Given the description of an element on the screen output the (x, y) to click on. 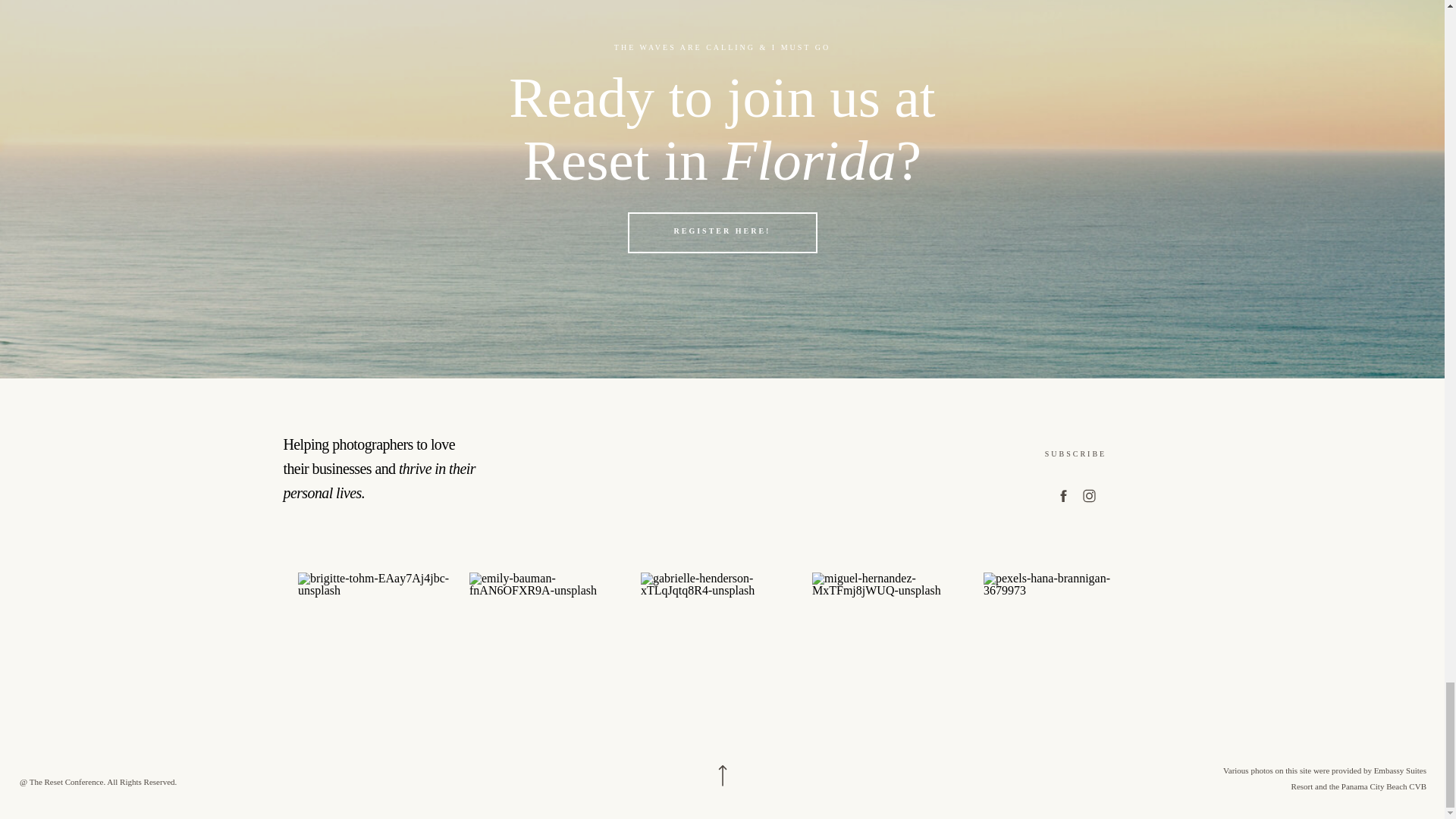
brigitte-tohm-EAay7Aj4jbc-unsplash (379, 653)
gabrielle-henderson-xTLqJqtq8R4-unsplash (721, 653)
miguel-hernandez-MxTFmj8jWUQ-unsplash (893, 653)
pexels-hana-brannigan-3679973 (1065, 653)
Ready to join us at Reset in Florida? (722, 128)
emily-bauman-fnAN6OFXR9A-unsplash (549, 653)
